Given the description of an element on the screen output the (x, y) to click on. 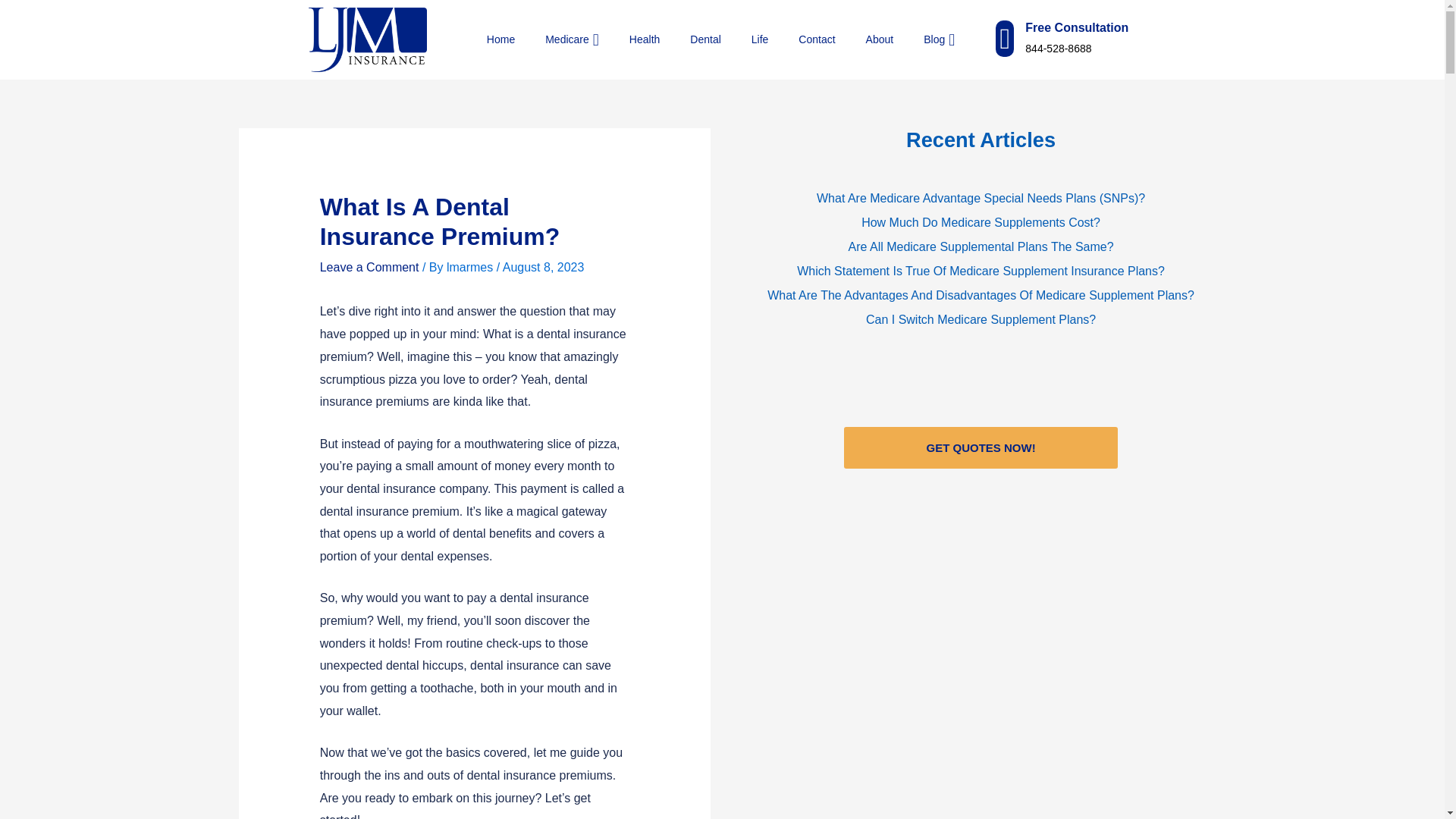
GET QUOTES NOW! (981, 447)
lmarmes (471, 267)
Leave a Comment (369, 267)
View all posts by lmarmes (471, 267)
Medicare (556, 39)
Can I Switch Medicare Supplement Plans? (980, 319)
How Much Do Medicare Supplements Cost? (980, 222)
Are All Medicare Supplemental Plans The Same? (980, 247)
